Given the description of an element on the screen output the (x, y) to click on. 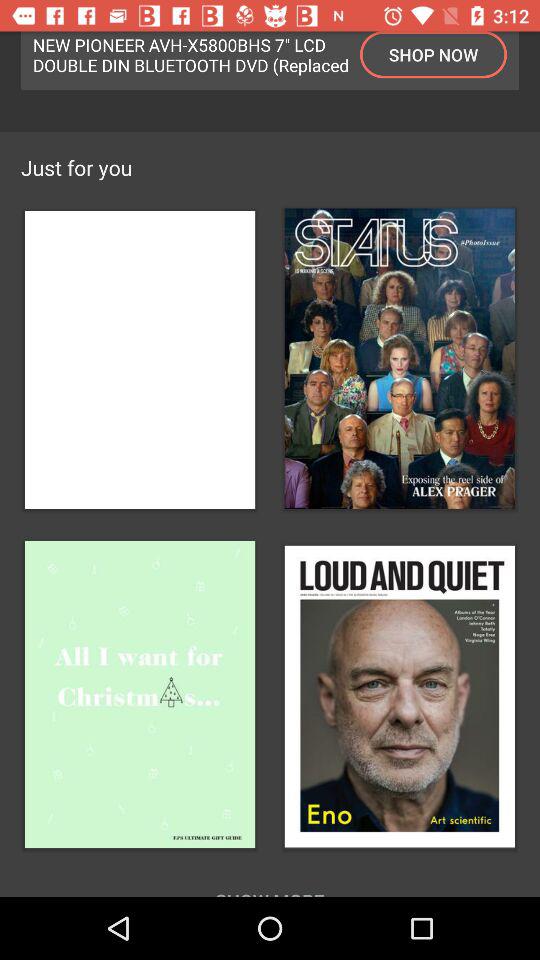
scroll to the new pioneer avh icon (191, 54)
